Given the description of an element on the screen output the (x, y) to click on. 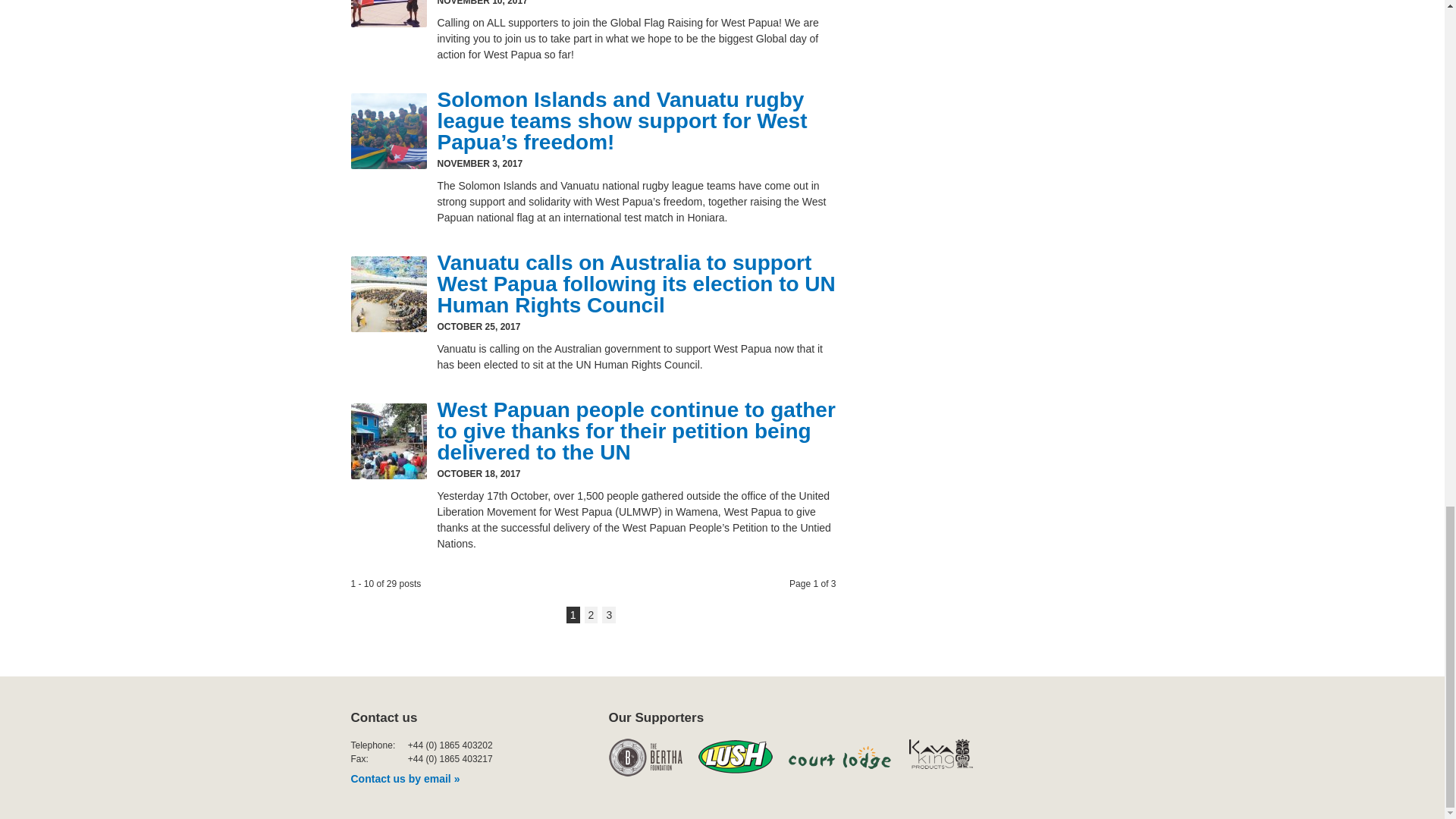
2 (591, 614)
